Given the description of an element on the screen output the (x, y) to click on. 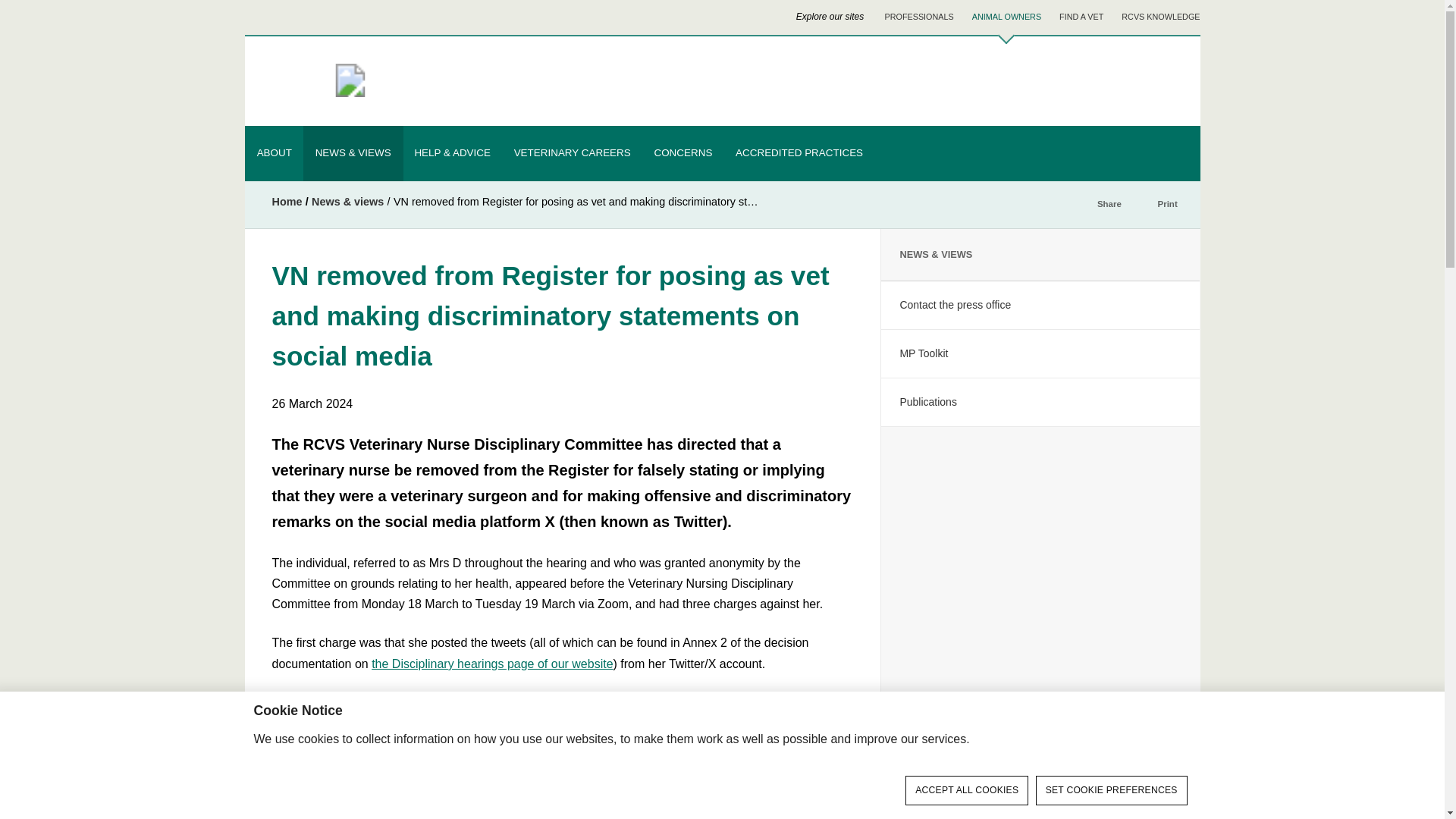
ABOUT (274, 153)
ACCEPT ALL COOKIES (966, 790)
search (1152, 81)
RCVS KNOWLEDGE (1160, 17)
SET COOKIE PREFERENCES (1111, 790)
FIND A VET (1081, 17)
share (1084, 204)
PROFESSIONALS (446, 81)
ANIMAL OWNERS (919, 17)
Animal Owners home (1006, 17)
